Given the description of an element on the screen output the (x, y) to click on. 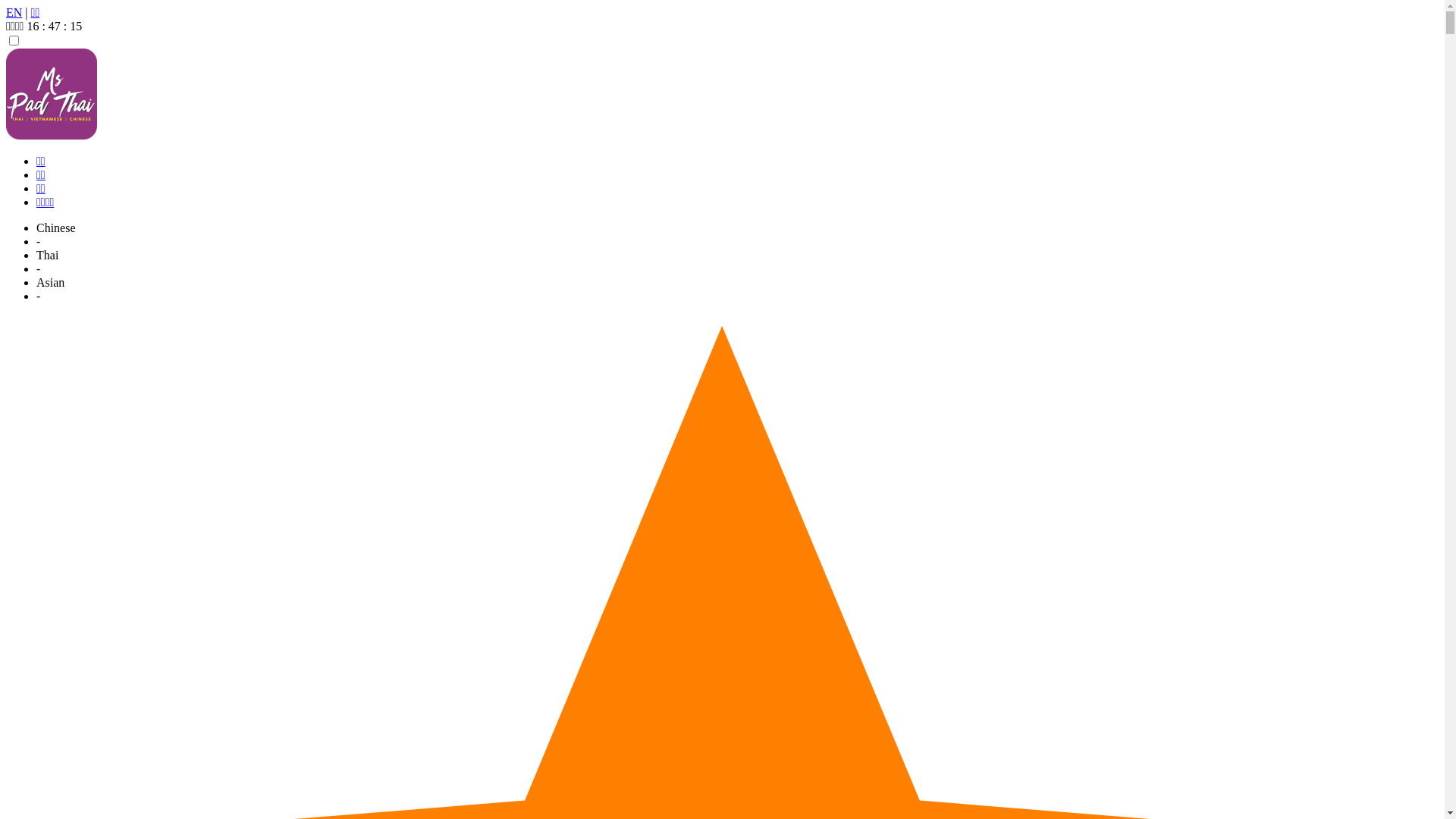
EN Element type: text (13, 12)
